Given the description of an element on the screen output the (x, y) to click on. 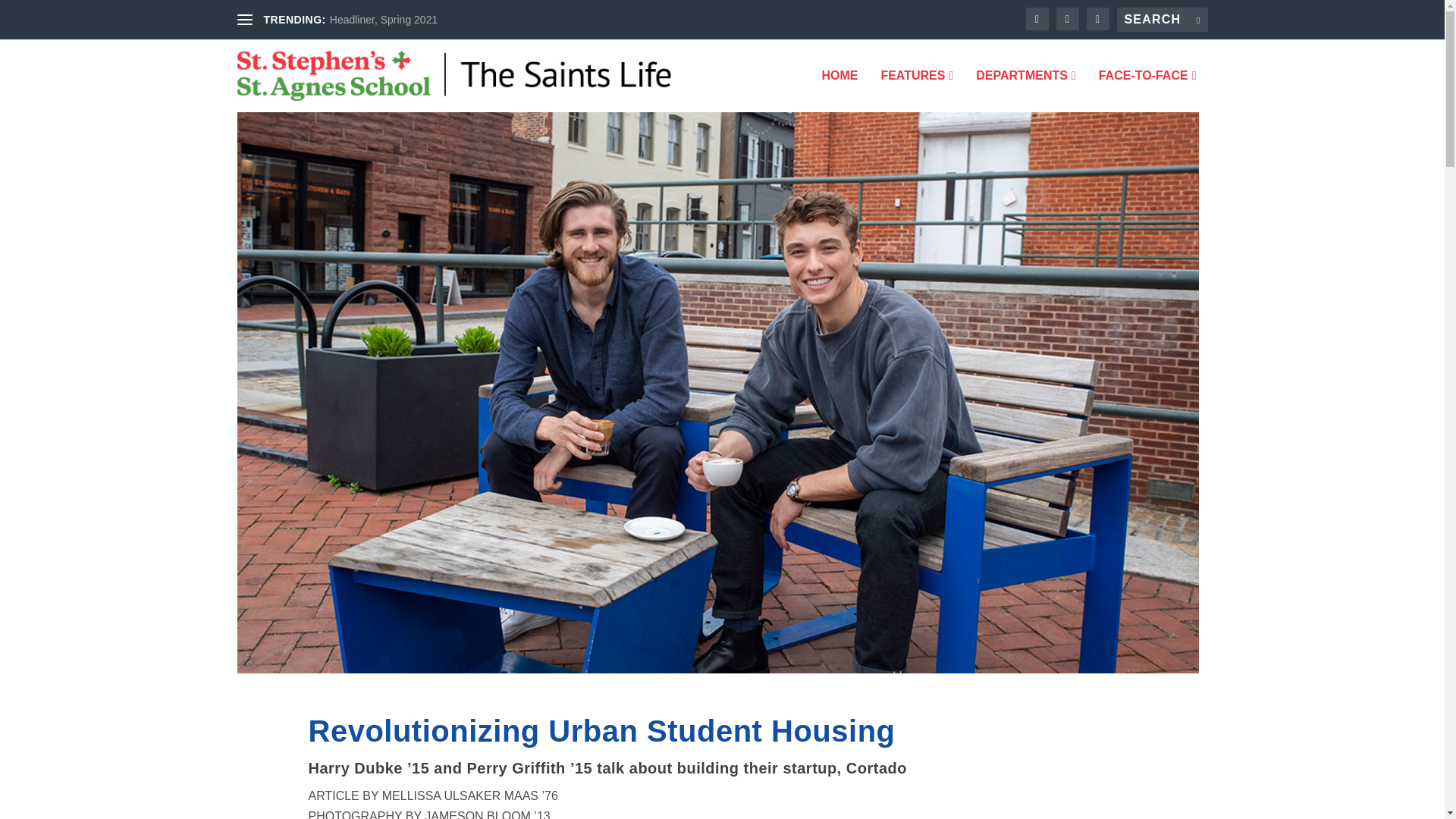
FACE-TO-FACE (1147, 90)
FEATURES (916, 90)
DEPARTMENTS (1025, 90)
Headliner, Spring 2021 (384, 19)
Search for: (1161, 19)
